Given the description of an element on the screen output the (x, y) to click on. 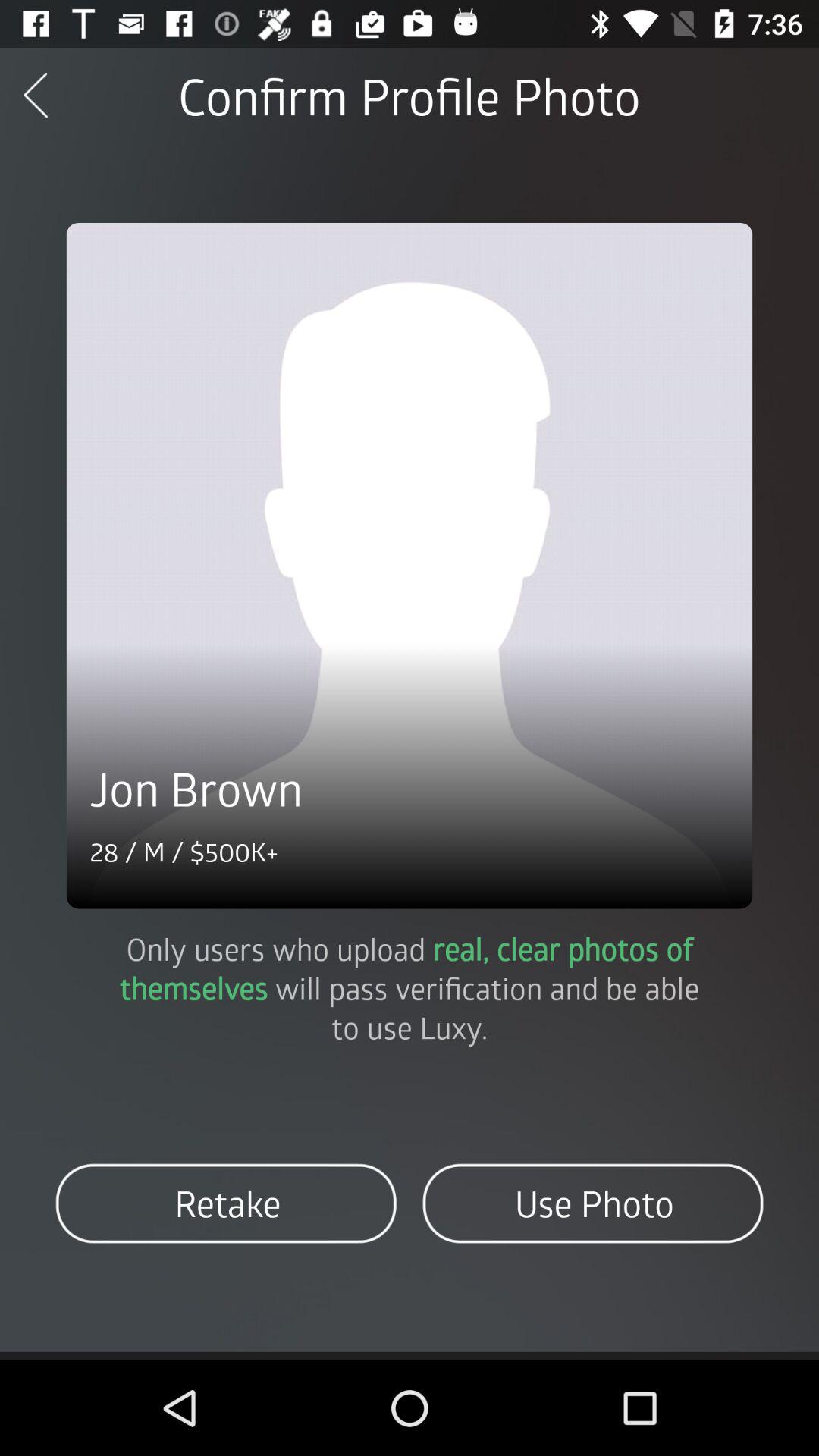
tap icon below confirm profile photo (409, 565)
